Given the description of an element on the screen output the (x, y) to click on. 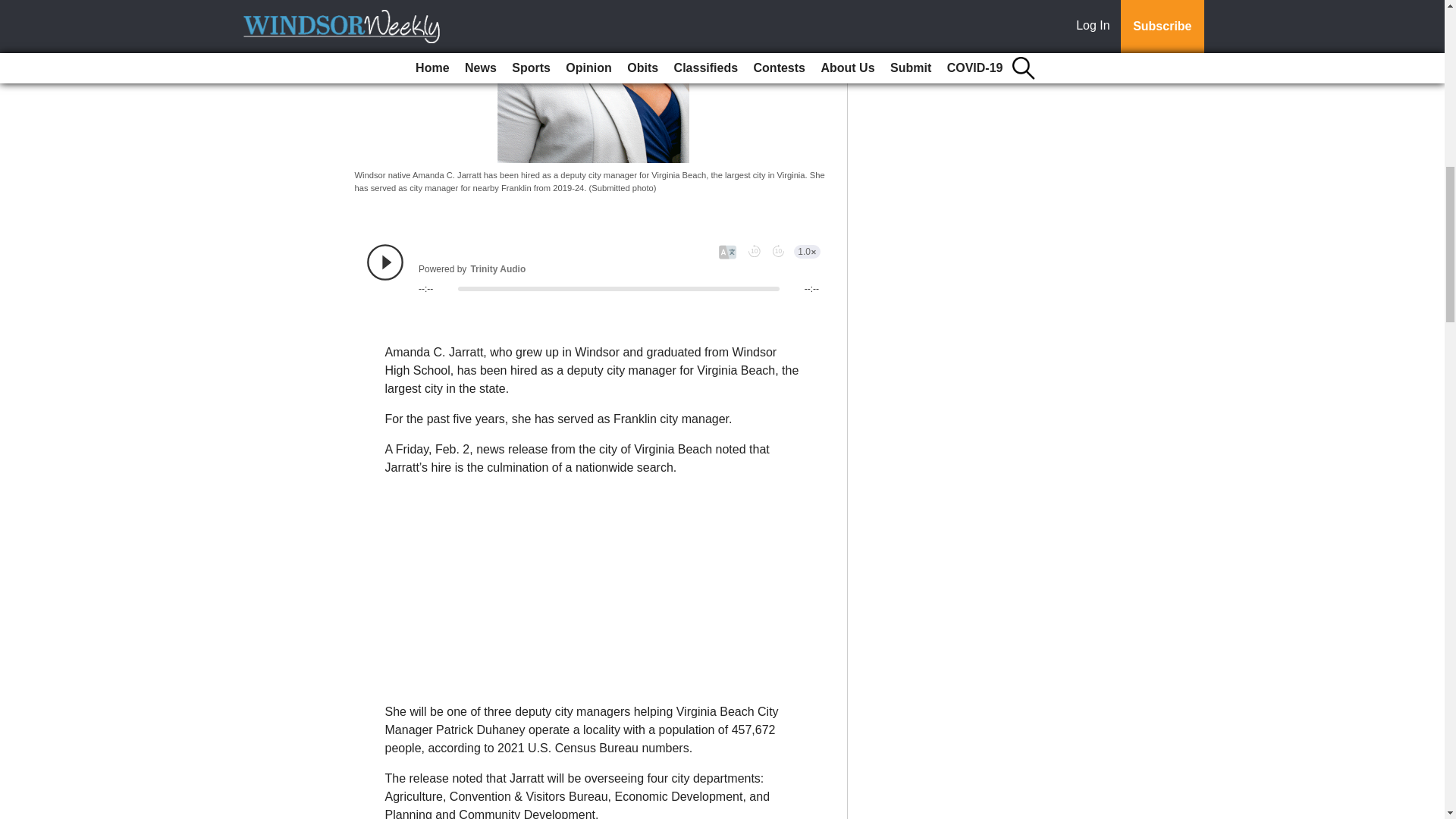
Trinity Audio Player (592, 269)
